Given the description of an element on the screen output the (x, y) to click on. 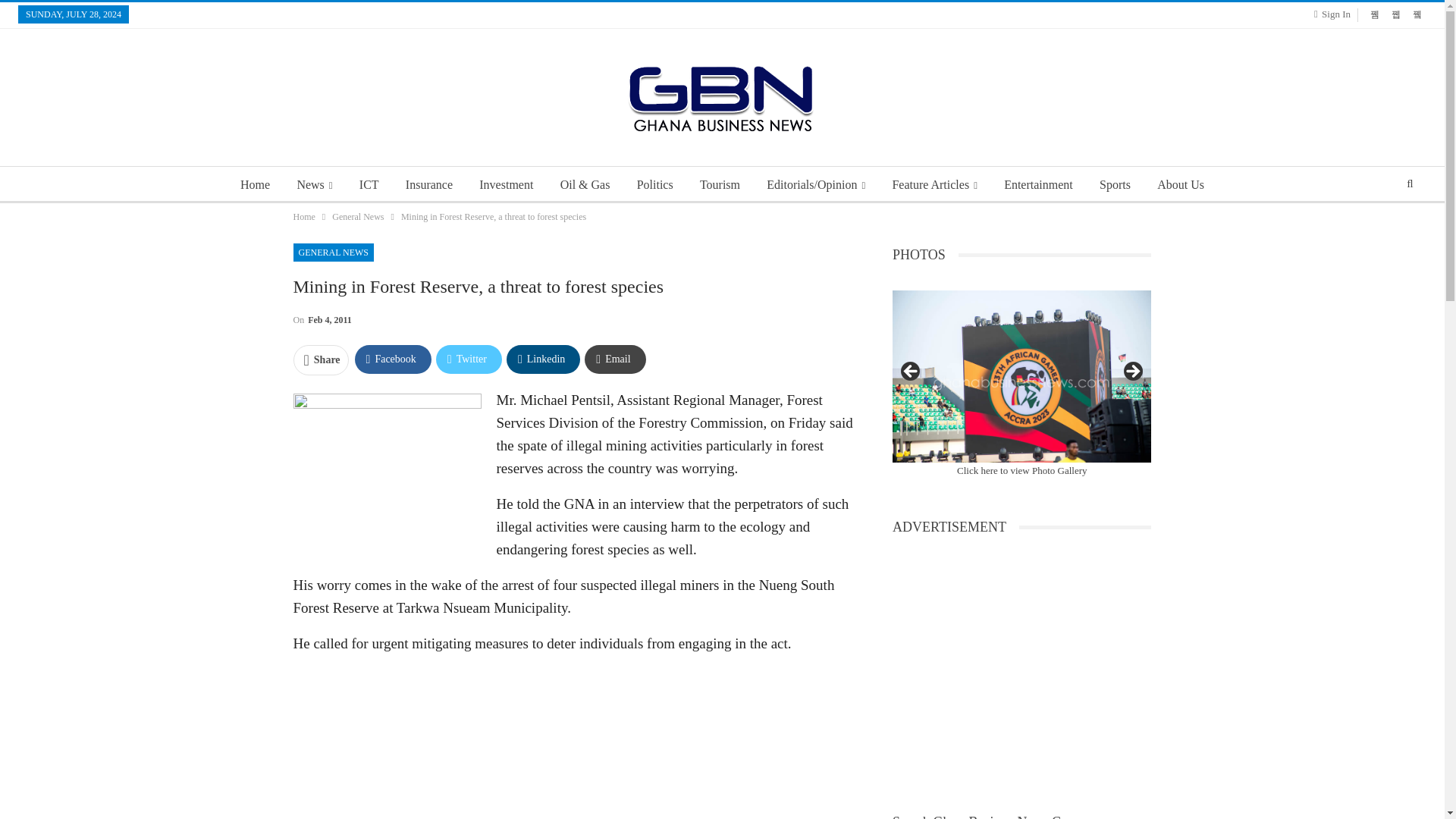
Politics (654, 185)
forest (386, 472)
Insurance (428, 185)
Email (615, 358)
News (313, 185)
Linkedin (542, 358)
ICT (369, 185)
General News (357, 216)
Home (255, 185)
Sign In (1335, 13)
About Us (1180, 185)
Home (303, 216)
Investment (505, 185)
Advertisement (574, 743)
GENERAL NEWS (333, 252)
